Given the description of an element on the screen output the (x, y) to click on. 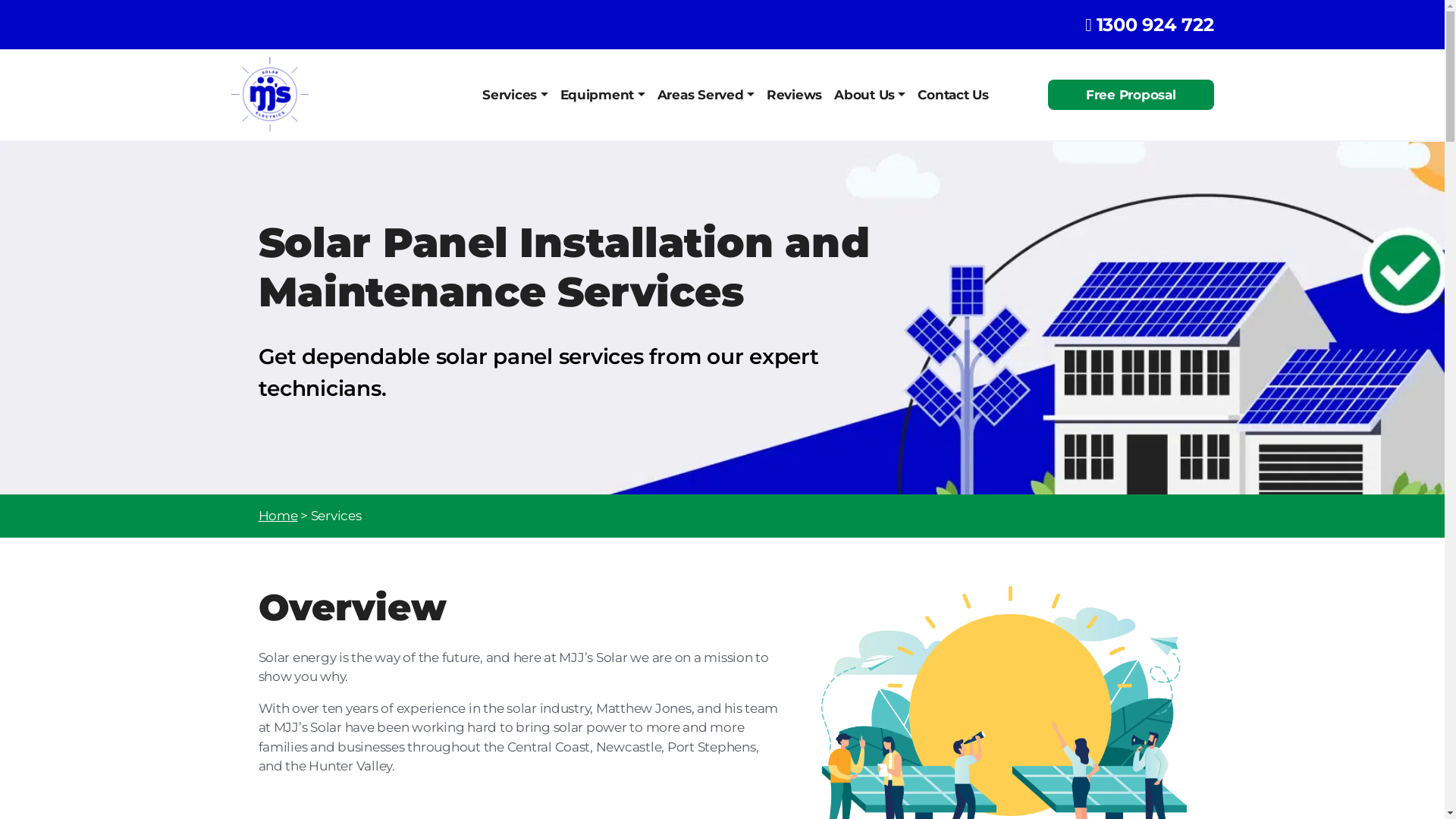
Equipment Element type: text (602, 94)
1300 924 722 Element type: text (1155, 24)
Home Element type: text (277, 515)
About Us Element type: text (869, 94)
Services Element type: text (514, 94)
Reviews Element type: text (794, 94)
Contact Us Element type: text (952, 94)
Areas Served Element type: text (705, 94)
Free Proposal Element type: text (1131, 94)
